Given the description of an element on the screen output the (x, y) to click on. 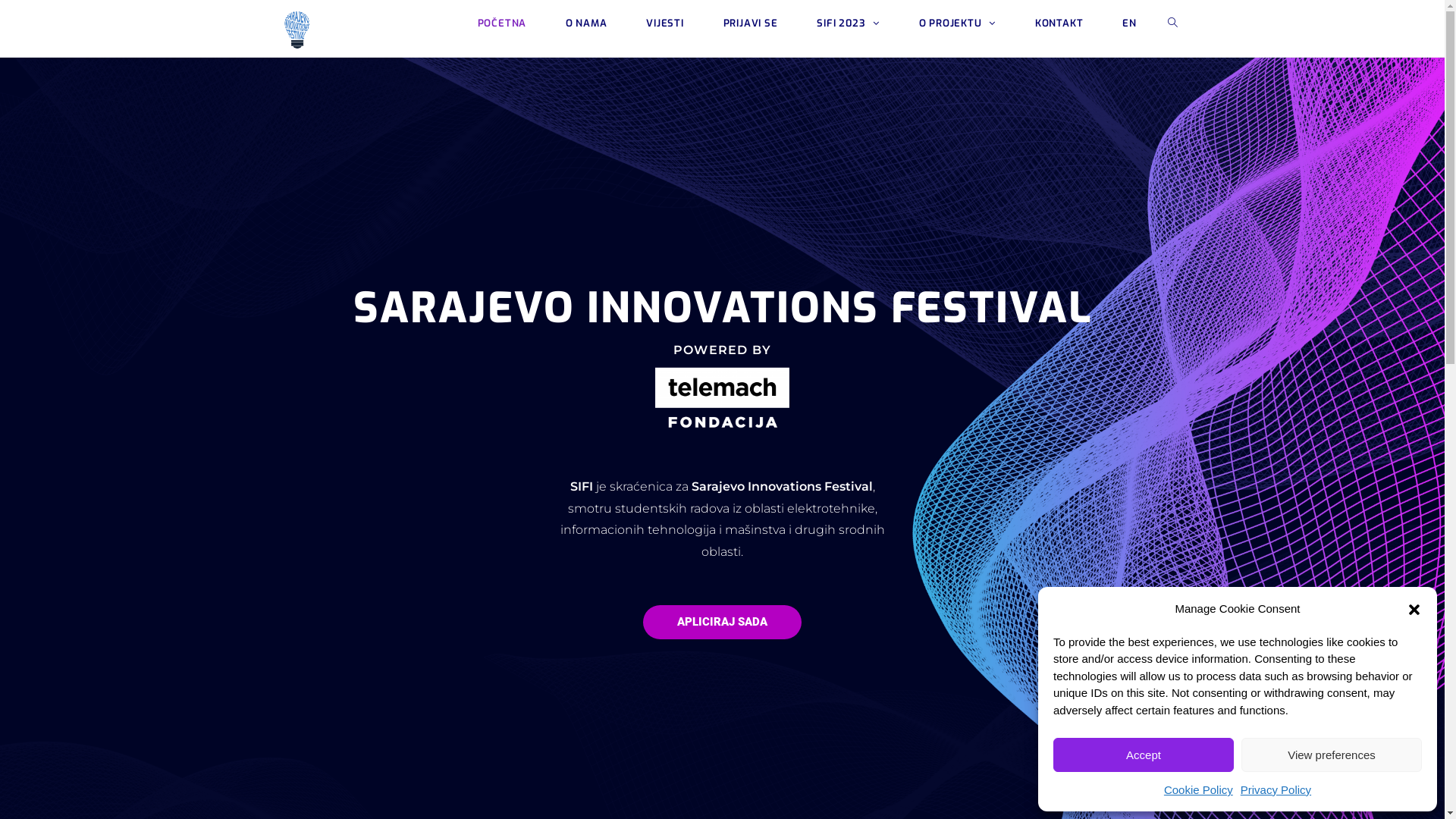
PRIJAVI SE Element type: text (750, 23)
Cookie Policy Element type: text (1198, 789)
APLICIRAJ SADA Element type: text (722, 622)
View preferences Element type: text (1331, 754)
O NAMA Element type: text (586, 23)
EN Element type: text (1128, 23)
KONTAKT Element type: text (1058, 23)
SIFI 2023 Element type: text (847, 23)
O PROJEKTU Element type: text (957, 23)
VIJESTI Element type: text (664, 23)
Accept Element type: text (1143, 754)
Privacy Policy Element type: text (1275, 789)
